Given the description of an element on the screen output the (x, y) to click on. 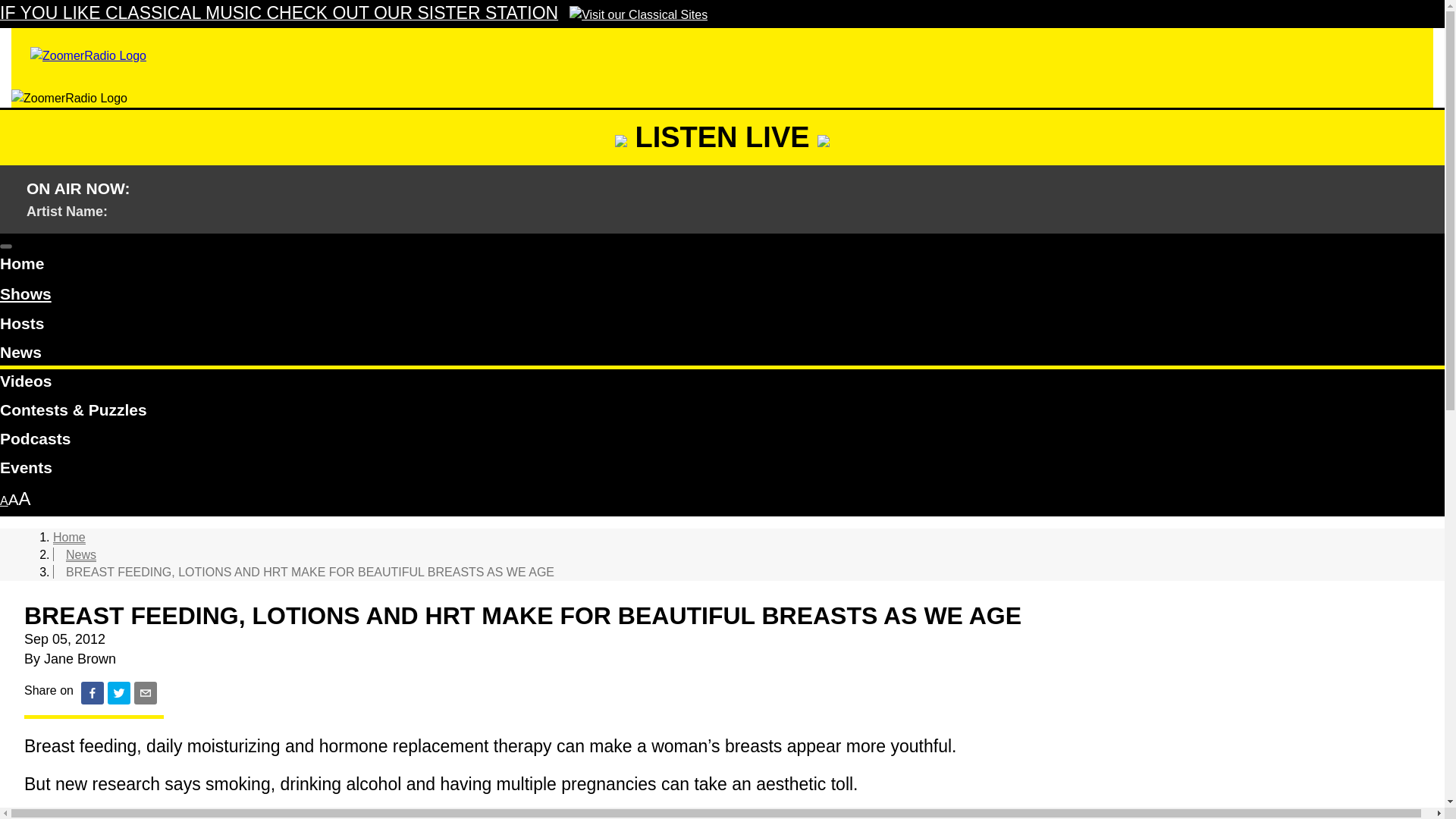
IF YOU LIKE CLASSICAL MUSIC CHECK OUT OUR SISTER STATION (353, 14)
Shows (25, 294)
Home (722, 265)
Events (722, 469)
News (722, 354)
Home (68, 537)
Hosts (722, 326)
Videos (722, 383)
News (80, 554)
